Given the description of an element on the screen output the (x, y) to click on. 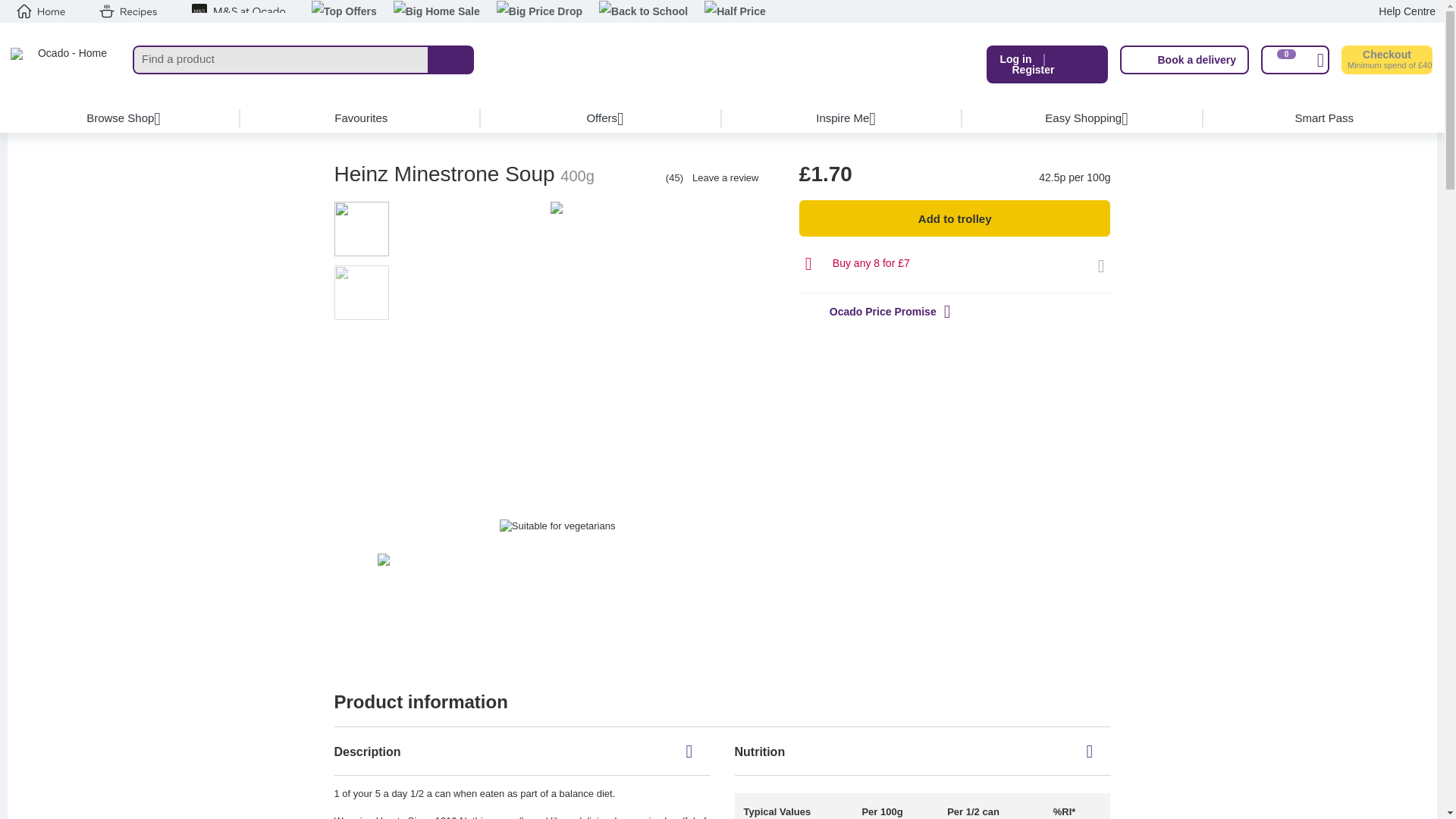
Register (1032, 69)
Browse Shop (120, 118)
Offers (601, 118)
Book a delivery (1184, 59)
Easy Shopping (1083, 118)
Log in (1014, 59)
0 (1294, 59)
Top Offers (344, 11)
Reviews 3.2 of 5 (618, 177)
Home (41, 11)
